Given the description of an element on the screen output the (x, y) to click on. 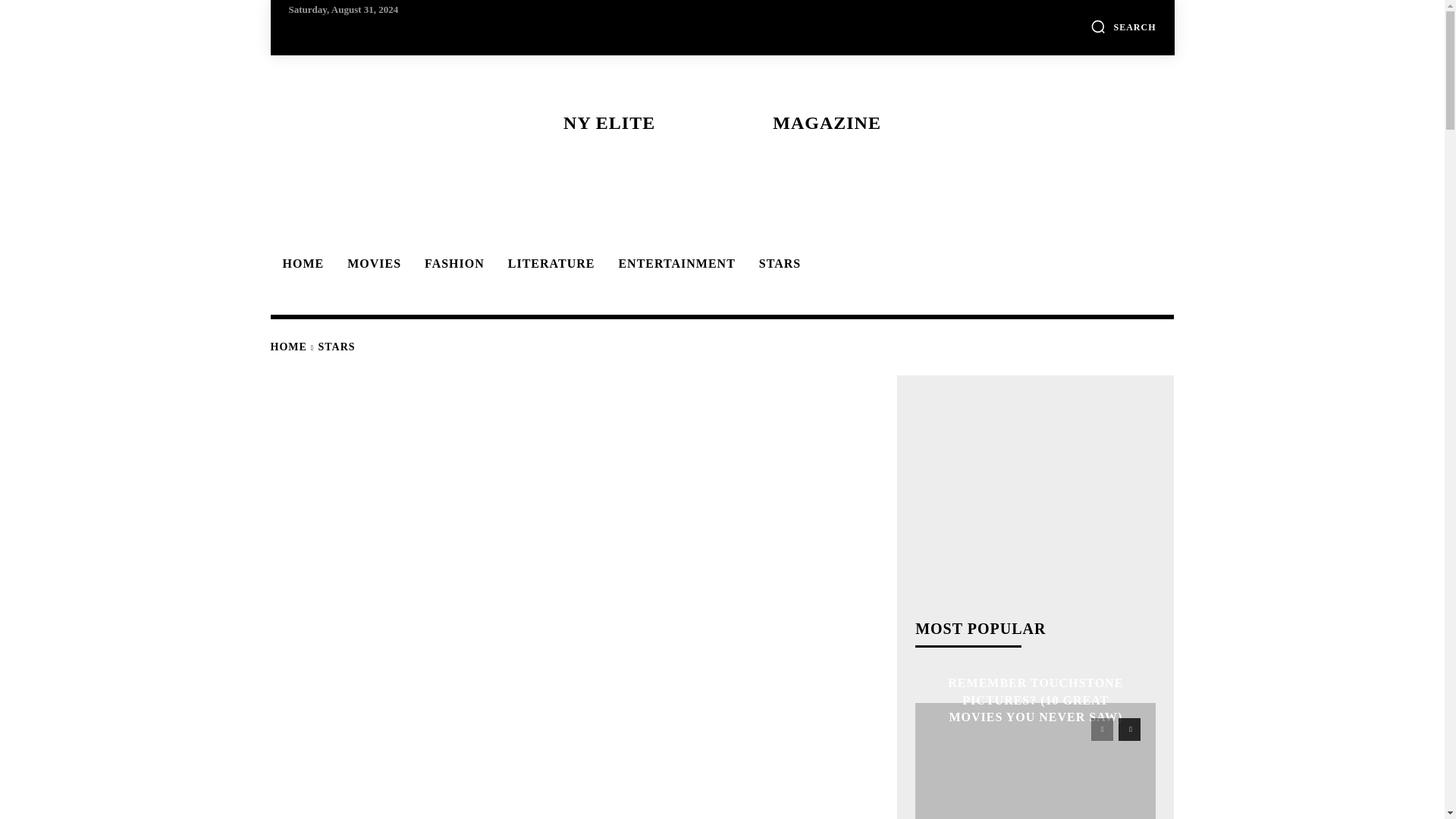
MOVIES (371, 263)
View all posts in Stars (336, 346)
ENTERTAINMENT (673, 263)
FASHION (452, 263)
STARS (336, 346)
STARS (777, 263)
HOME (287, 346)
LITERATURE (549, 263)
SEARCH (1123, 25)
